Given the description of an element on the screen output the (x, y) to click on. 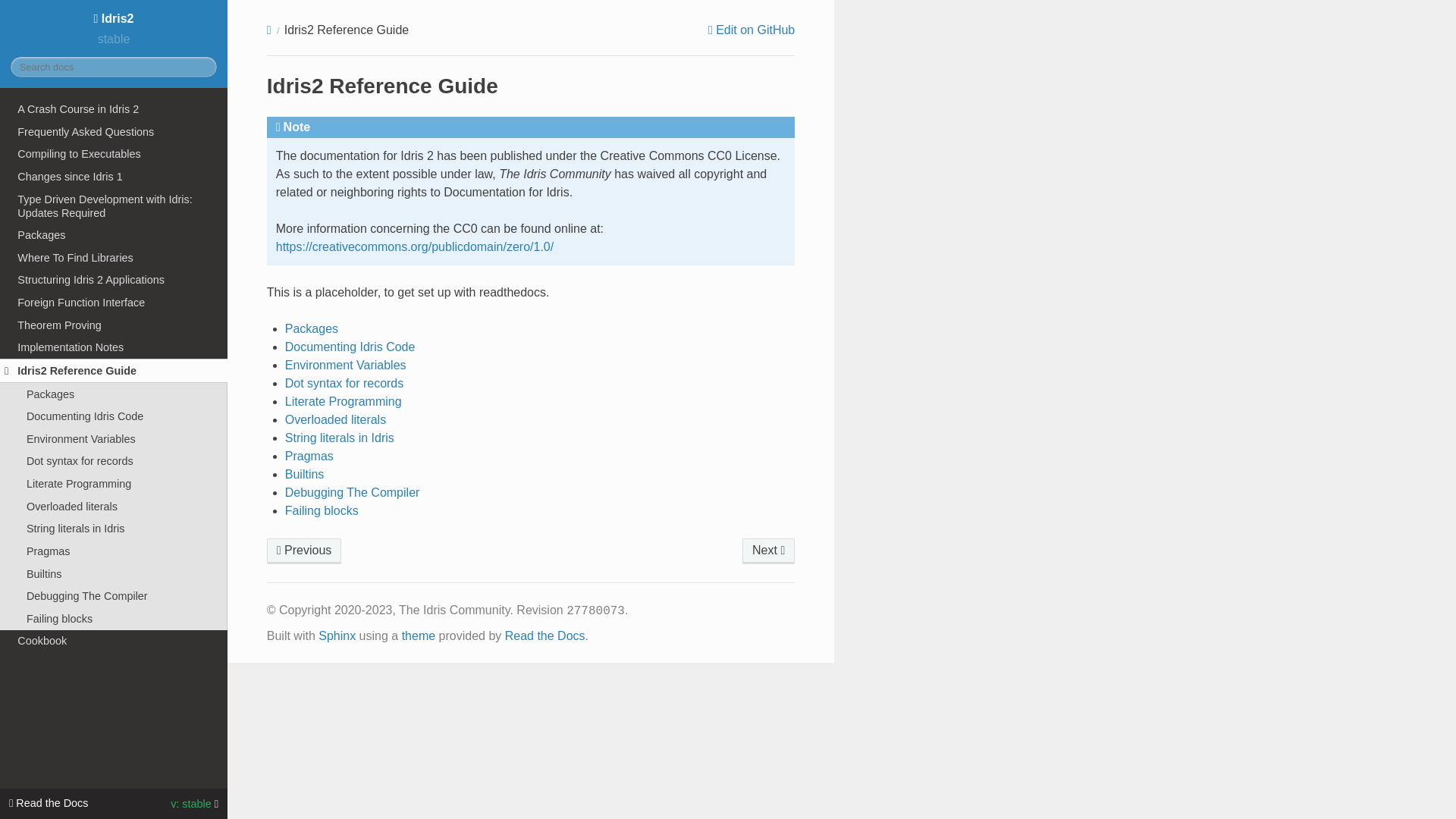
Pragmas (113, 550)
Literate Programming (343, 400)
Changes since Idris 1 (113, 176)
Idris2 (113, 18)
Edit on GitHub (750, 30)
Documenting Idris Code (113, 415)
Foreign Function Interface (113, 302)
Overloaded literals (113, 506)
Debugging The Compiler (113, 595)
Pragmas (309, 455)
